Given the description of an element on the screen output the (x, y) to click on. 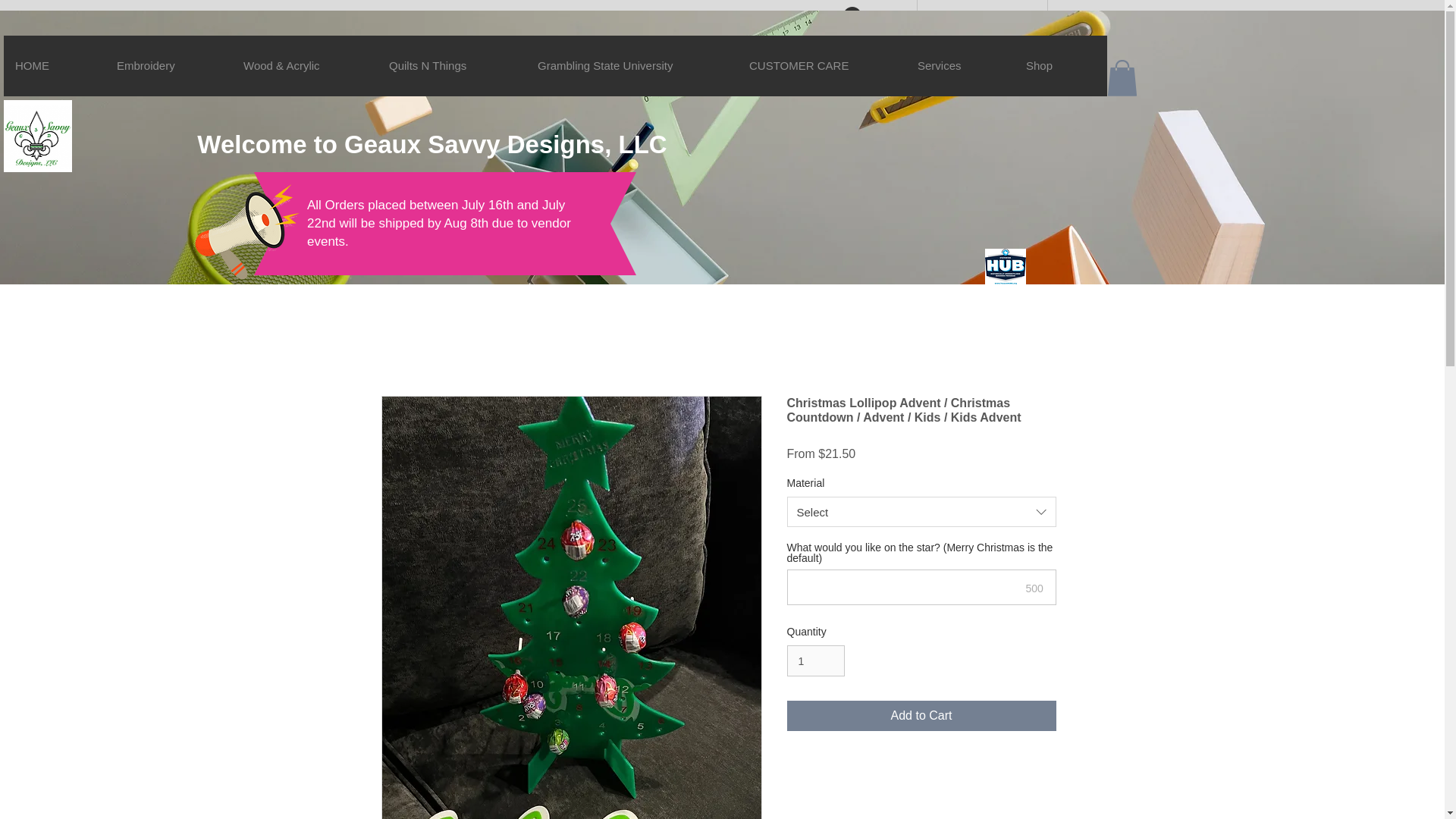
HOME (54, 66)
1 (815, 660)
Select (922, 511)
Add to Cart (922, 716)
Grambling State University (630, 66)
Quilts N Things (451, 66)
Services (959, 66)
CUSTOMER CARE (820, 66)
Embroidery (167, 66)
Shop (1059, 66)
Log In (872, 15)
Megaphone (244, 235)
